Given the description of an element on the screen output the (x, y) to click on. 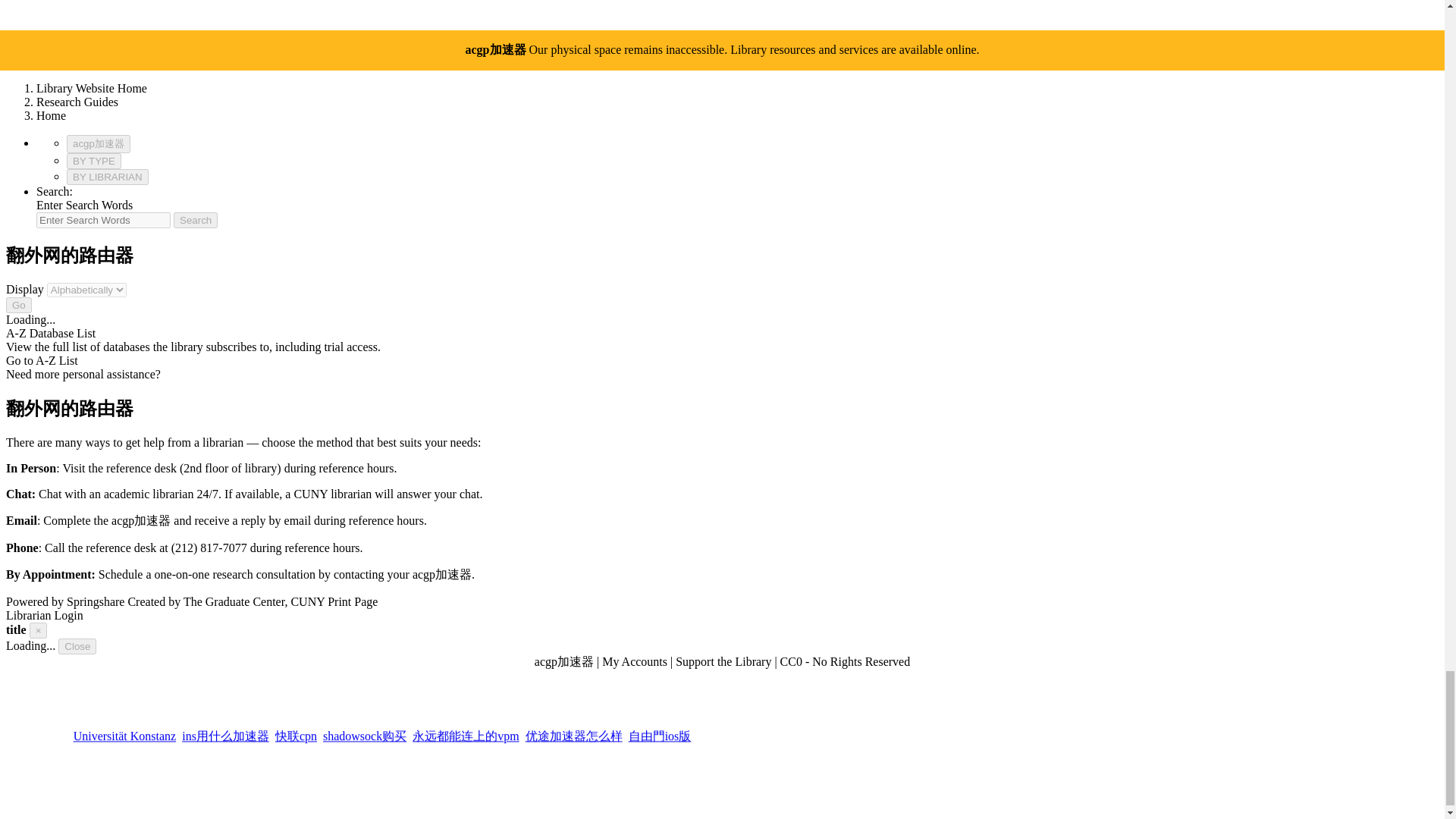
Close (77, 645)
BY TYPE (93, 160)
BY LIBRARIAN (107, 176)
Search (194, 220)
Go (18, 304)
